Given the description of an element on the screen output the (x, y) to click on. 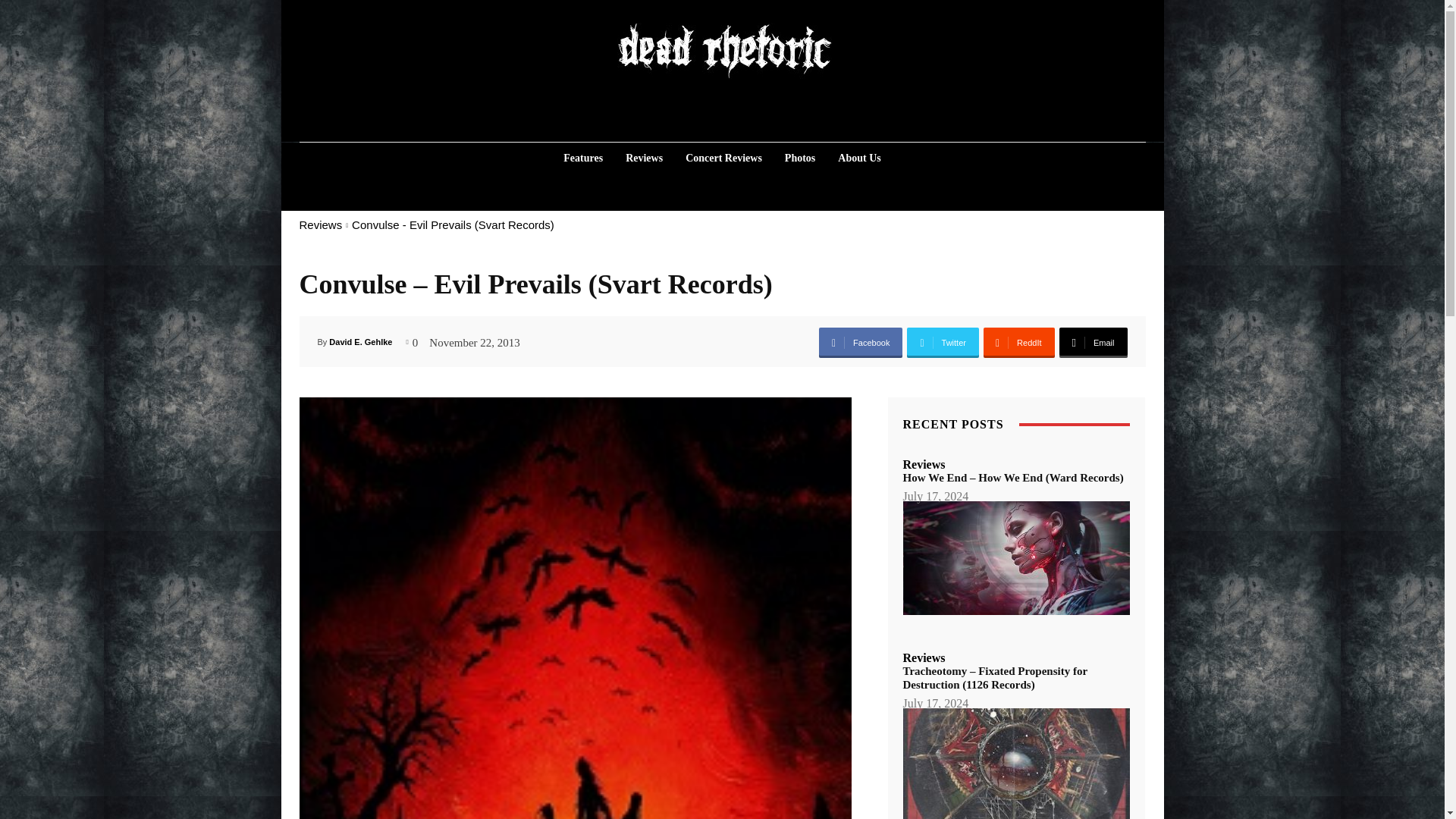
View all posts in Reviews (320, 224)
Email (1092, 342)
ReddIt (1019, 342)
ReddIt (1019, 342)
Twitter (942, 342)
Reviews (643, 158)
Twitter (942, 342)
Features (583, 158)
0 (412, 340)
Concert Reviews (724, 158)
Email (1092, 342)
About Us (858, 158)
Facebook (860, 342)
Reviews (320, 224)
